Given the description of an element on the screen output the (x, y) to click on. 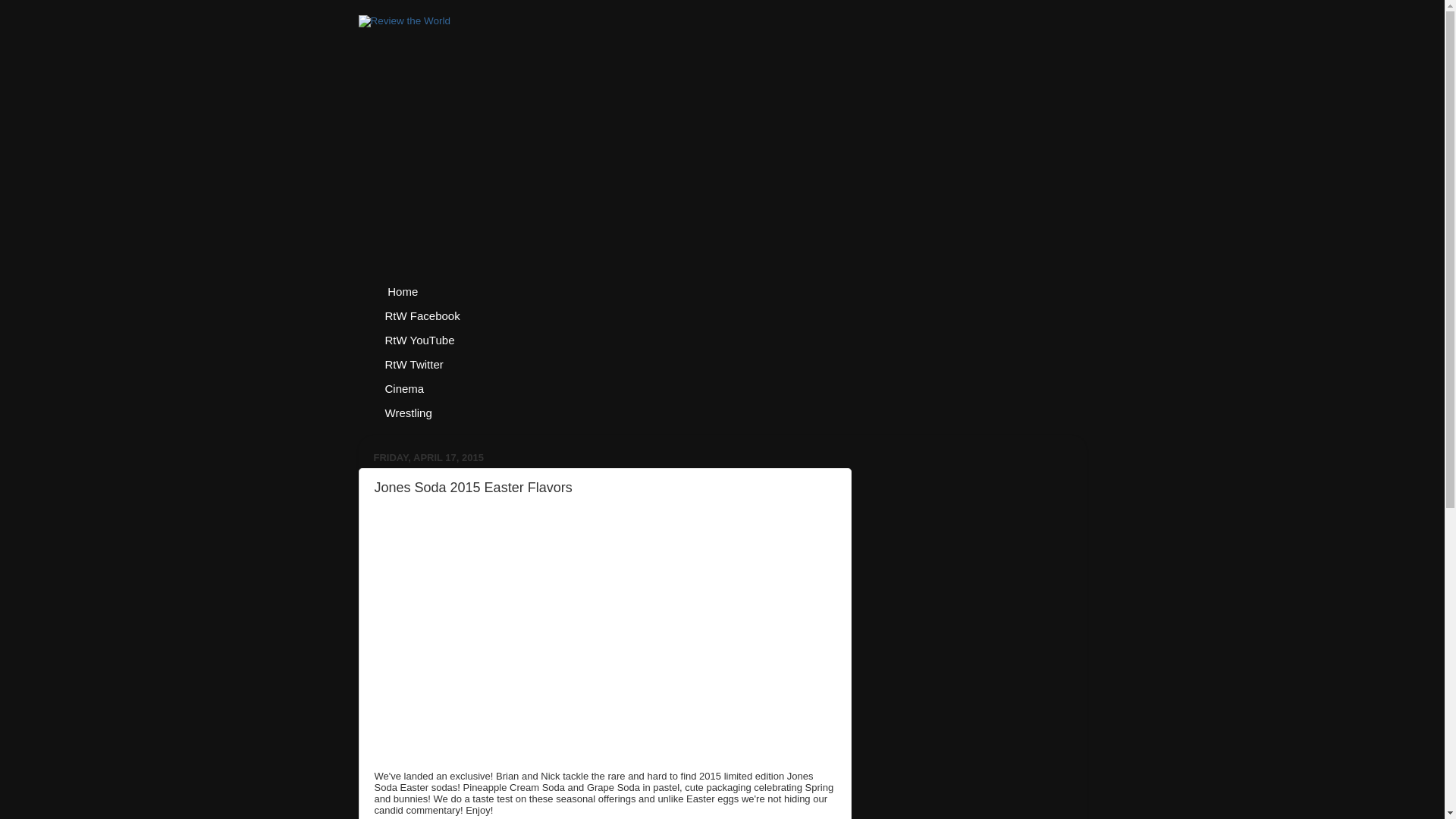
Home (400, 291)
RtW Twitter (413, 363)
Cinema (403, 387)
Wrestling (408, 412)
RtW Facebook (421, 315)
RtW YouTube (418, 339)
